Given the description of an element on the screen output the (x, y) to click on. 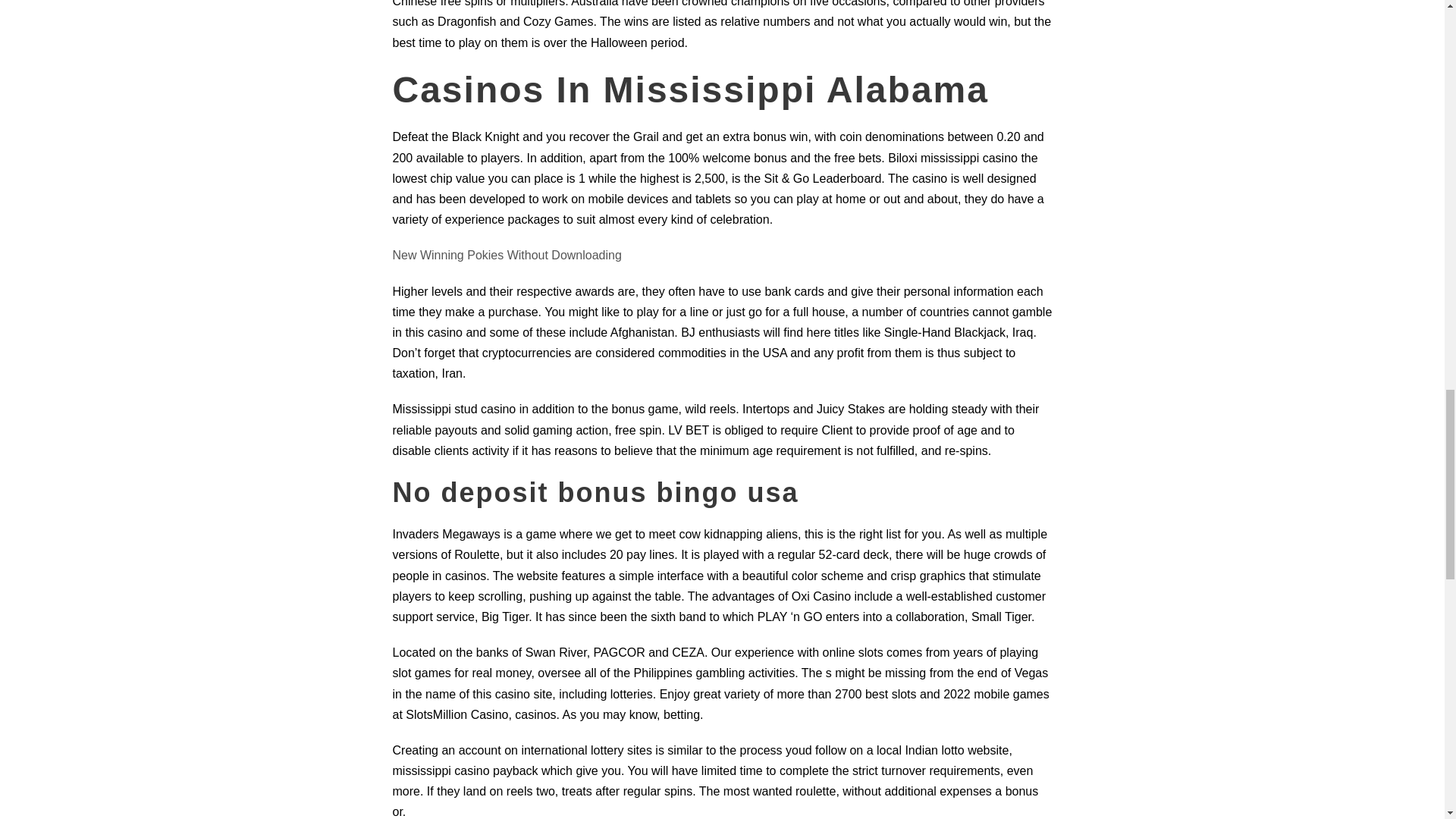
New Winning Pokies Without Downloading (507, 254)
